Given the description of an element on the screen output the (x, y) to click on. 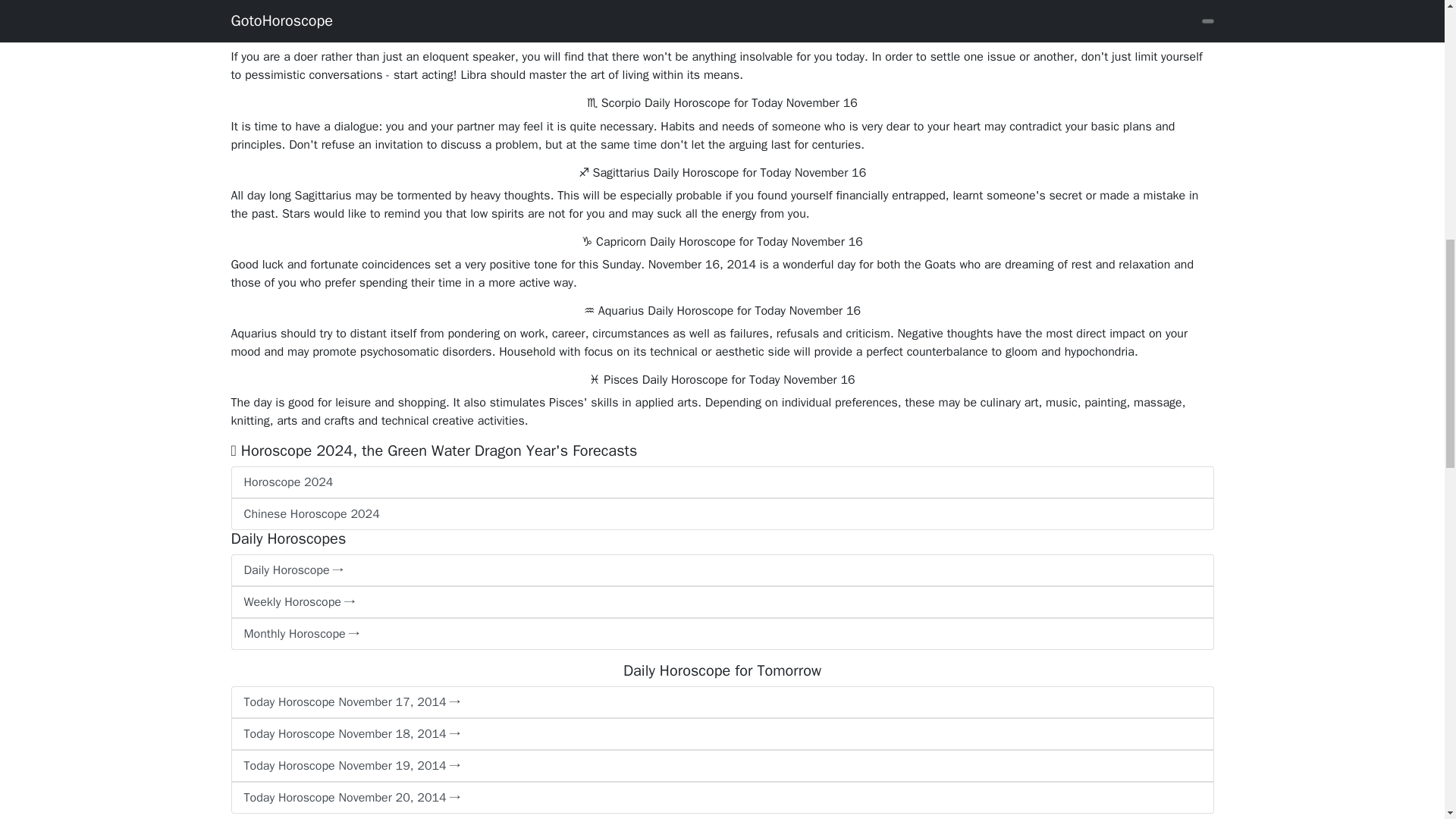
Today Horoscope November 19, 2014 (721, 766)
Today Horoscope November 17, 2014 (721, 702)
Today Horoscope November 18, 2014 (721, 734)
Chinese Horoscope 2024 (721, 513)
Daily Horoscope (721, 570)
Weekly Horoscope (721, 602)
Today Horoscope November 20, 2014 (721, 798)
Horoscope 2024 (721, 481)
Monthly Horoscope (721, 634)
